Given the description of an element on the screen output the (x, y) to click on. 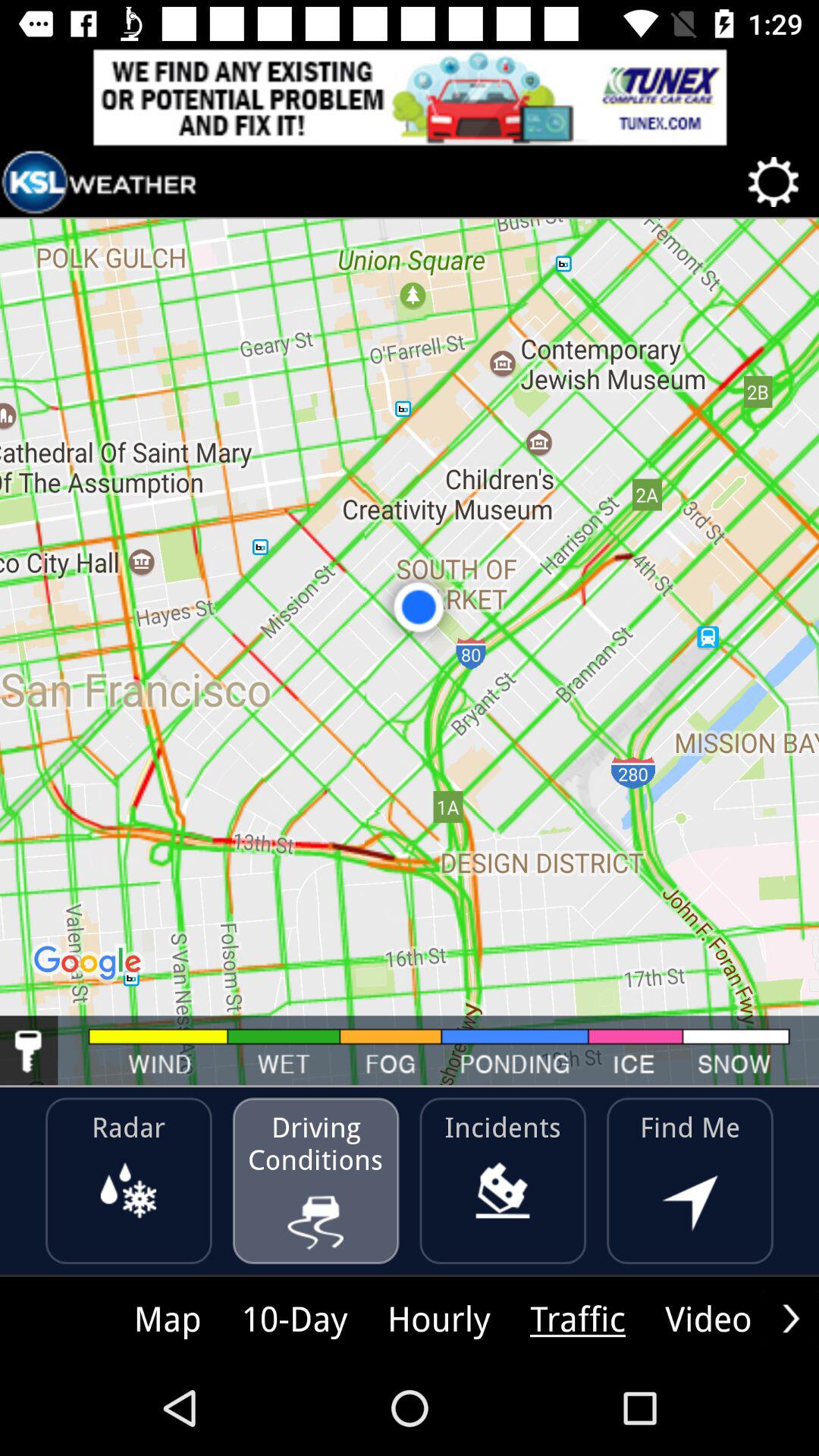
see other side bar menu (791, 1318)
